Given the description of an element on the screen output the (x, y) to click on. 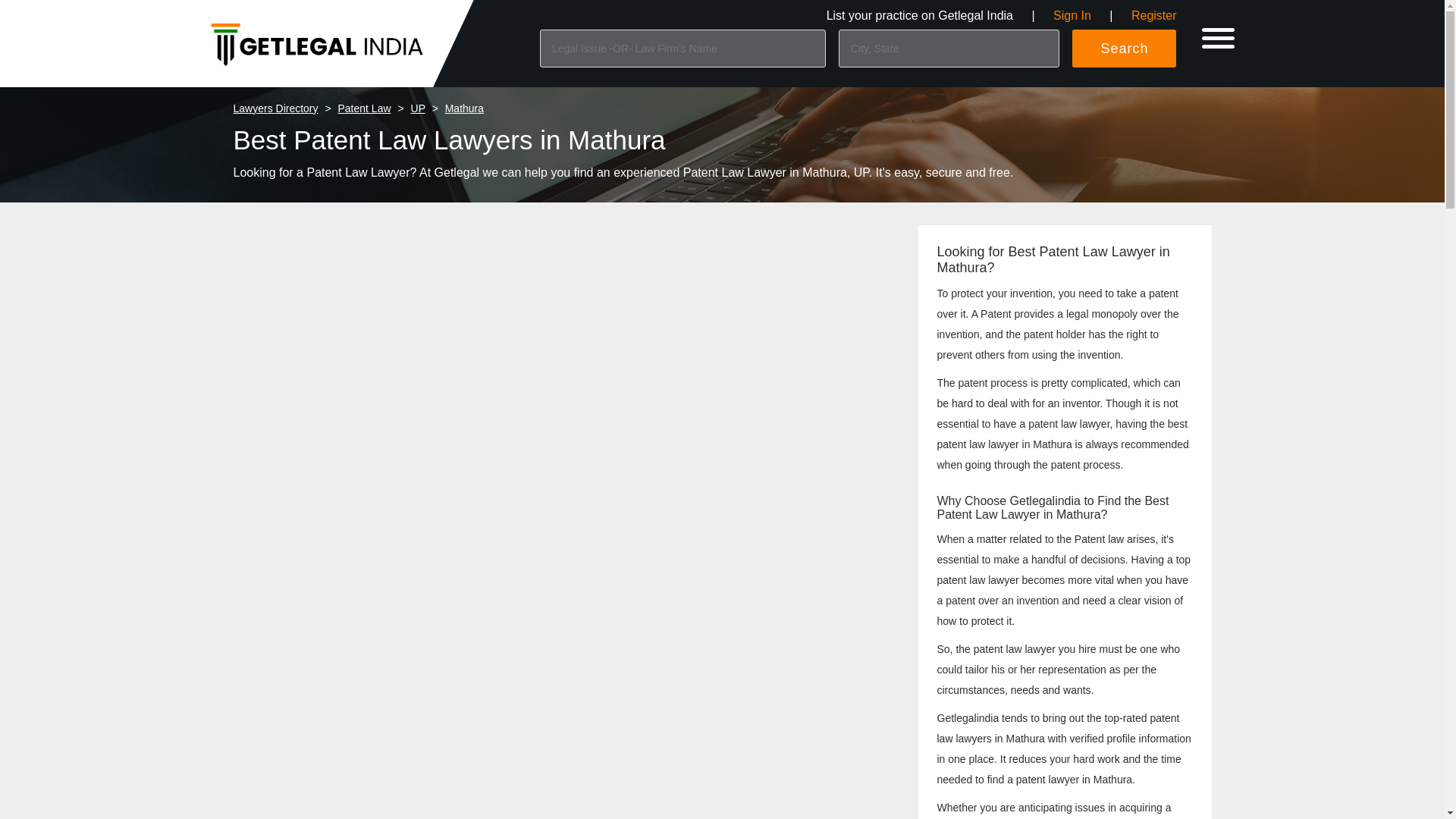
Register (1153, 15)
Lawyers Directory (275, 108)
Mathura (464, 108)
Patent Law (364, 108)
Sign In (1071, 15)
Search (1123, 48)
UP (417, 108)
